Given the description of an element on the screen output the (x, y) to click on. 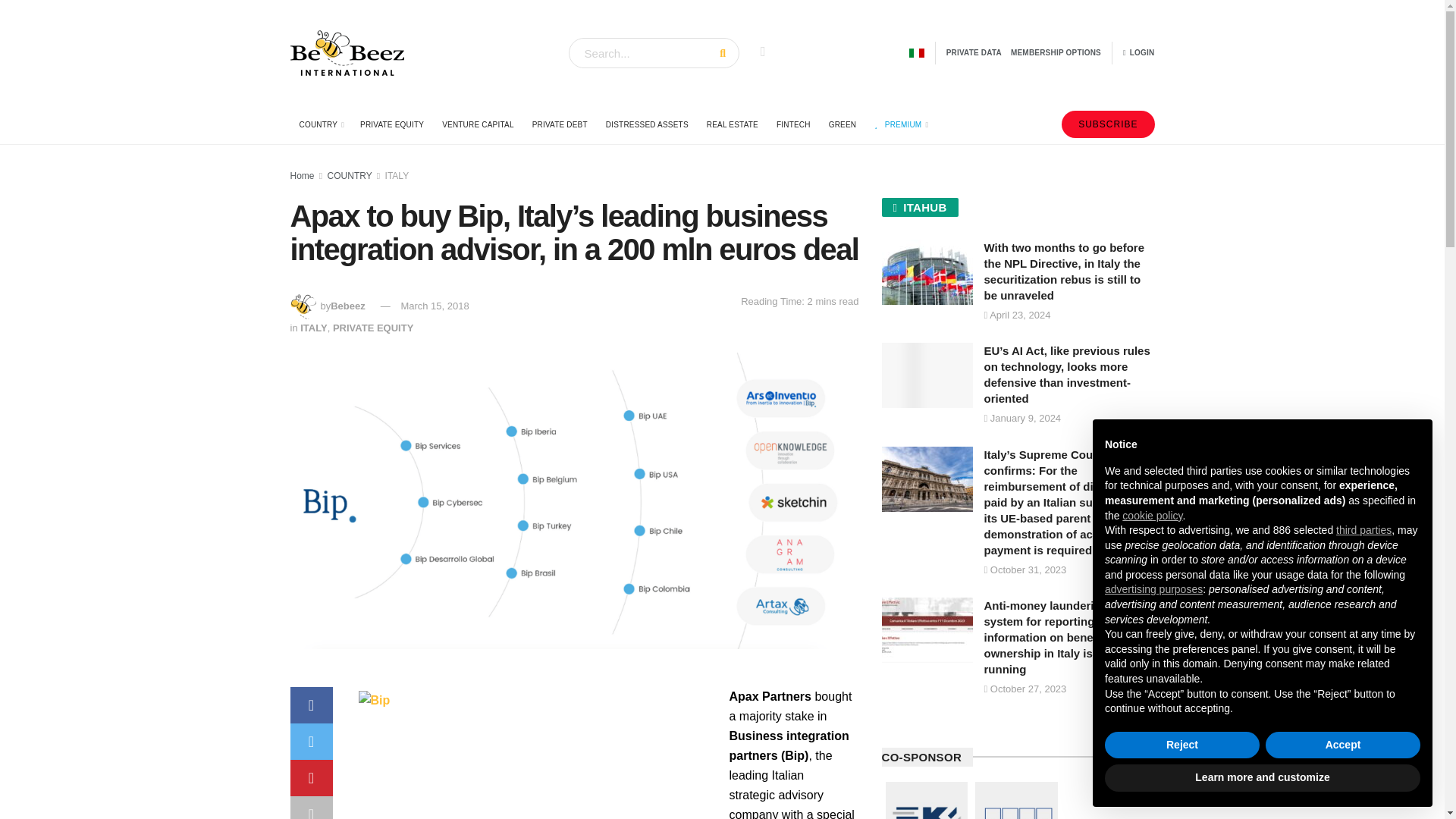
REAL ESTATE (732, 125)
SUBSCRIBE (1107, 124)
MEMBERSHIP OPTIONS (1055, 53)
PRIVATE EQUITY (391, 125)
FINTECH (793, 125)
PRIVATE DATA (973, 53)
DISTRESSED ASSETS (646, 125)
COUNTRY (319, 125)
GREEN (842, 125)
PREMIUM (899, 125)
